Given the description of an element on the screen output the (x, y) to click on. 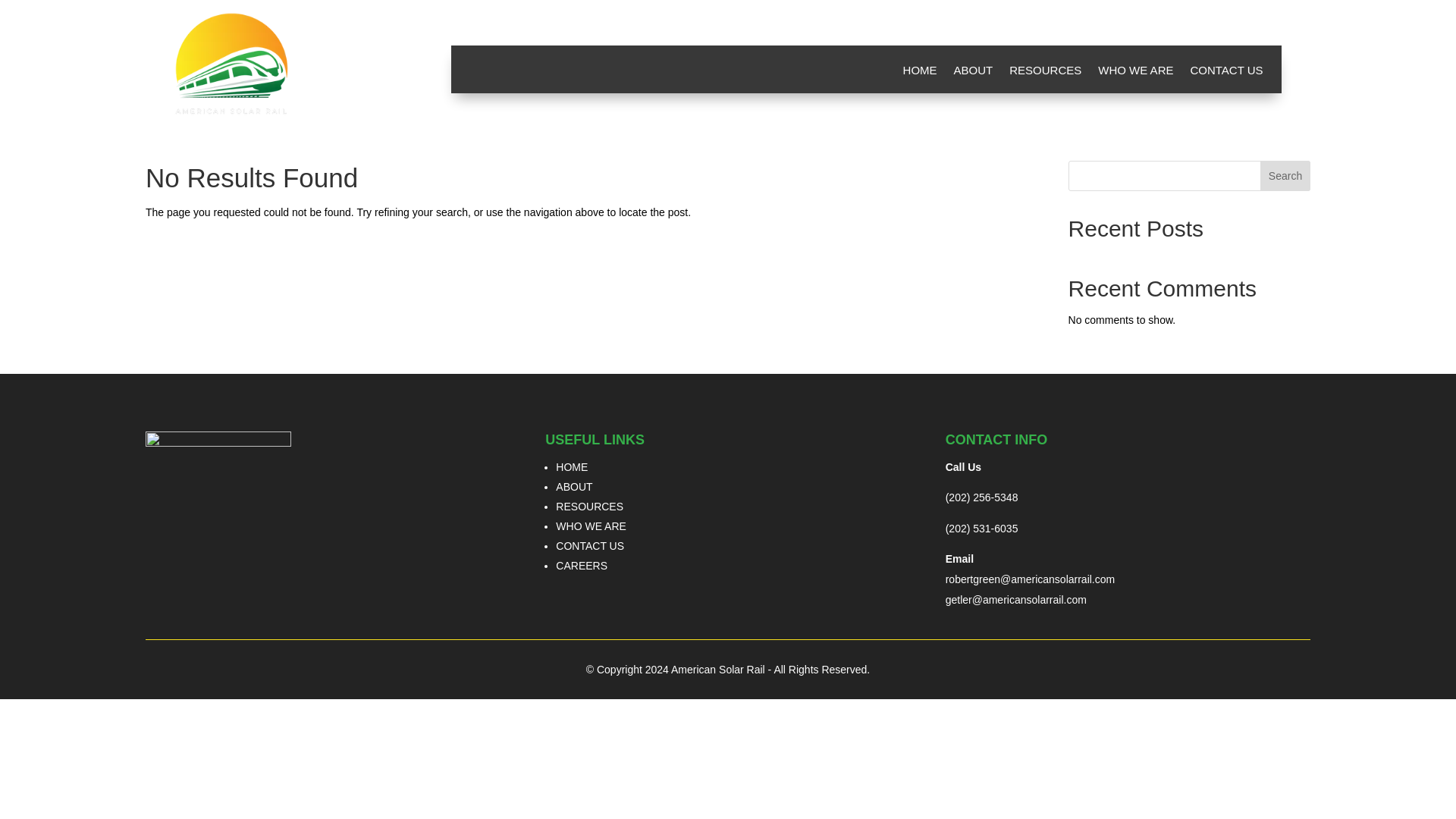
CAREERS (581, 565)
HOME (572, 467)
RESOURCES (589, 506)
CONTACT US (1225, 73)
americansolarrail (1023, 599)
ABOUT (972, 73)
HOME (919, 73)
WHO WE ARE (591, 526)
RESOURCES (1045, 73)
.com (1075, 599)
